Given the description of an element on the screen output the (x, y) to click on. 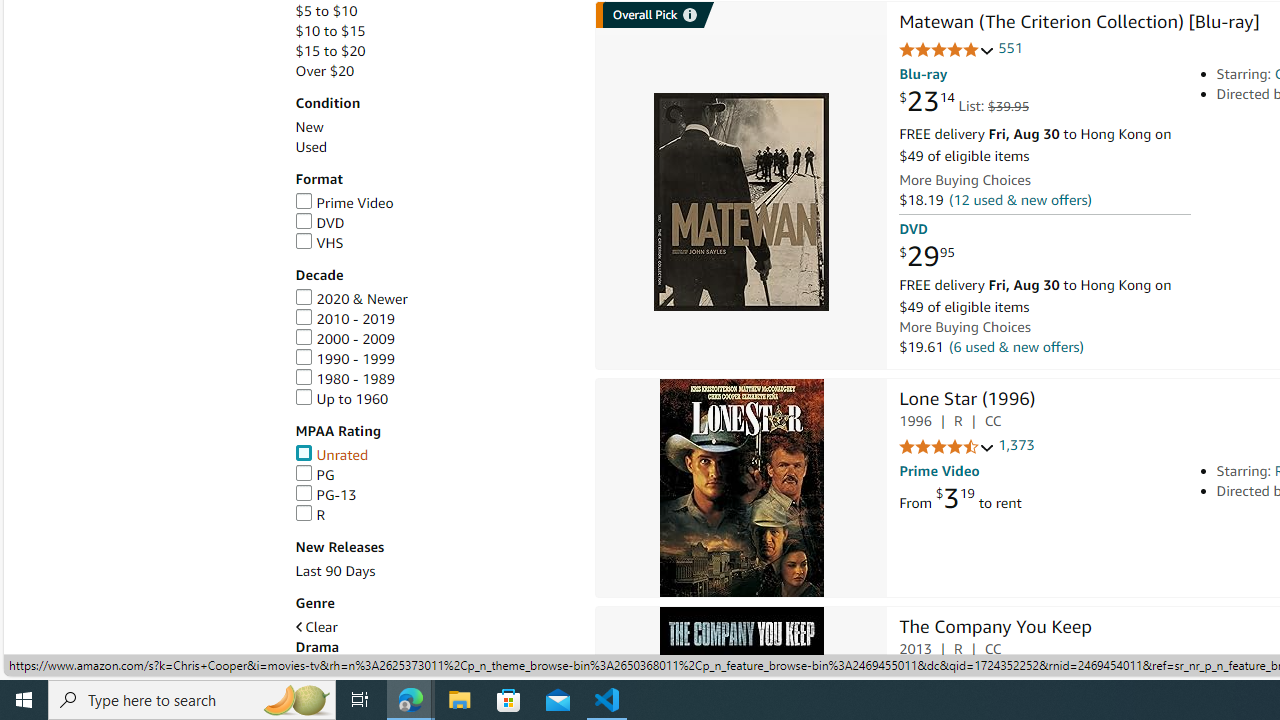
Lone Star (1996) (966, 400)
DVD (319, 223)
Used (434, 147)
(12 used & new offers) (1019, 200)
Skip to main search results (88, 666)
Used (310, 147)
Last 90 Days (335, 571)
PG (314, 475)
R (310, 514)
2020 & Newer (351, 298)
1990 - 1999 (344, 358)
4.3 out of 5 stars (946, 675)
$15 to $20 (434, 51)
4.4 out of 5 stars (946, 447)
Lone Star (1996) (741, 488)
